Given the description of an element on the screen output the (x, y) to click on. 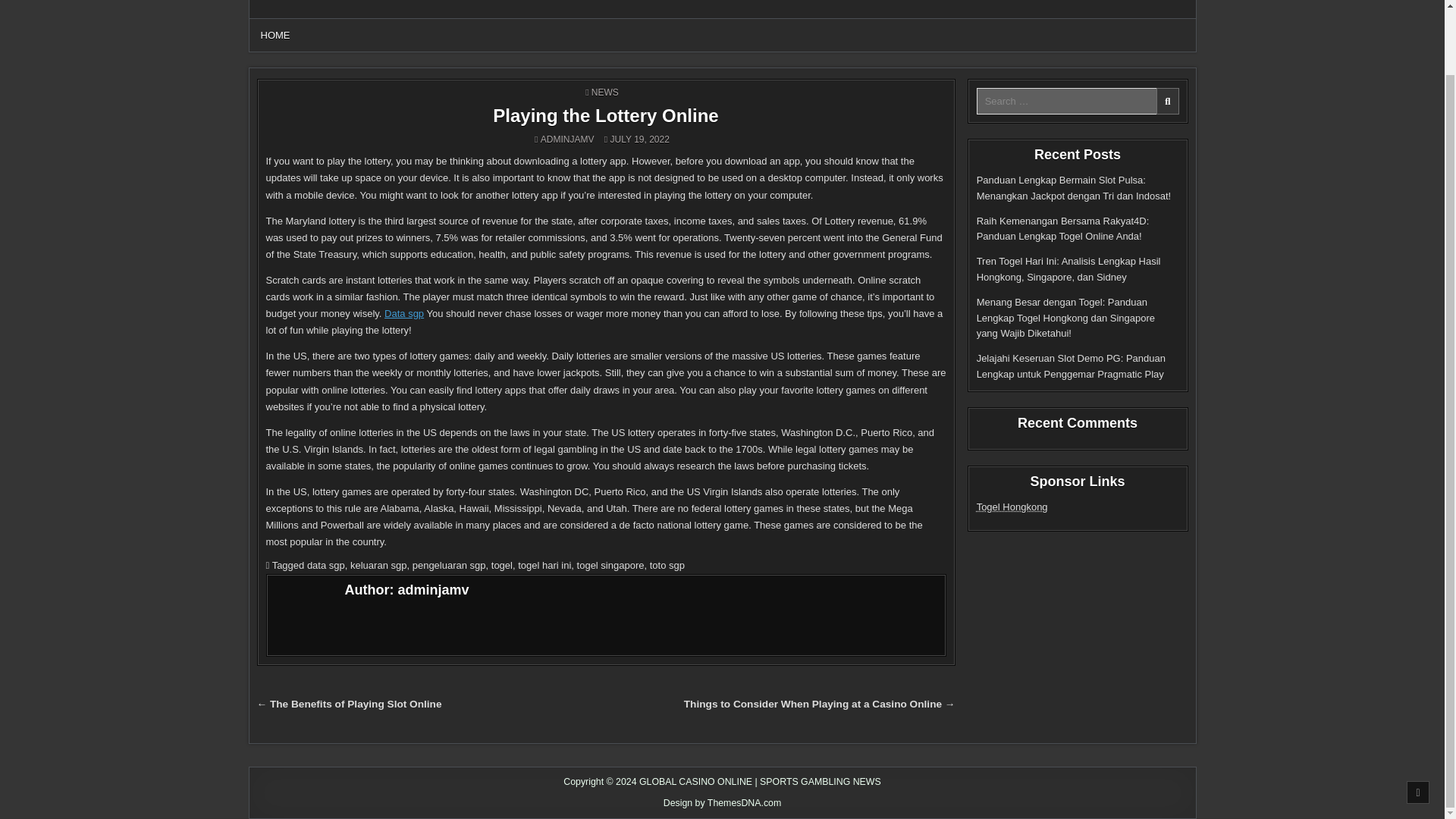
Scroll to Top (1417, 721)
NEWS (604, 91)
Data sgp (403, 313)
pengeluaran sgp (449, 564)
adminjamv (432, 589)
Playing the Lottery Online (605, 115)
ADMINJAMV (567, 139)
data sgp (326, 564)
